Given the description of an element on the screen output the (x, y) to click on. 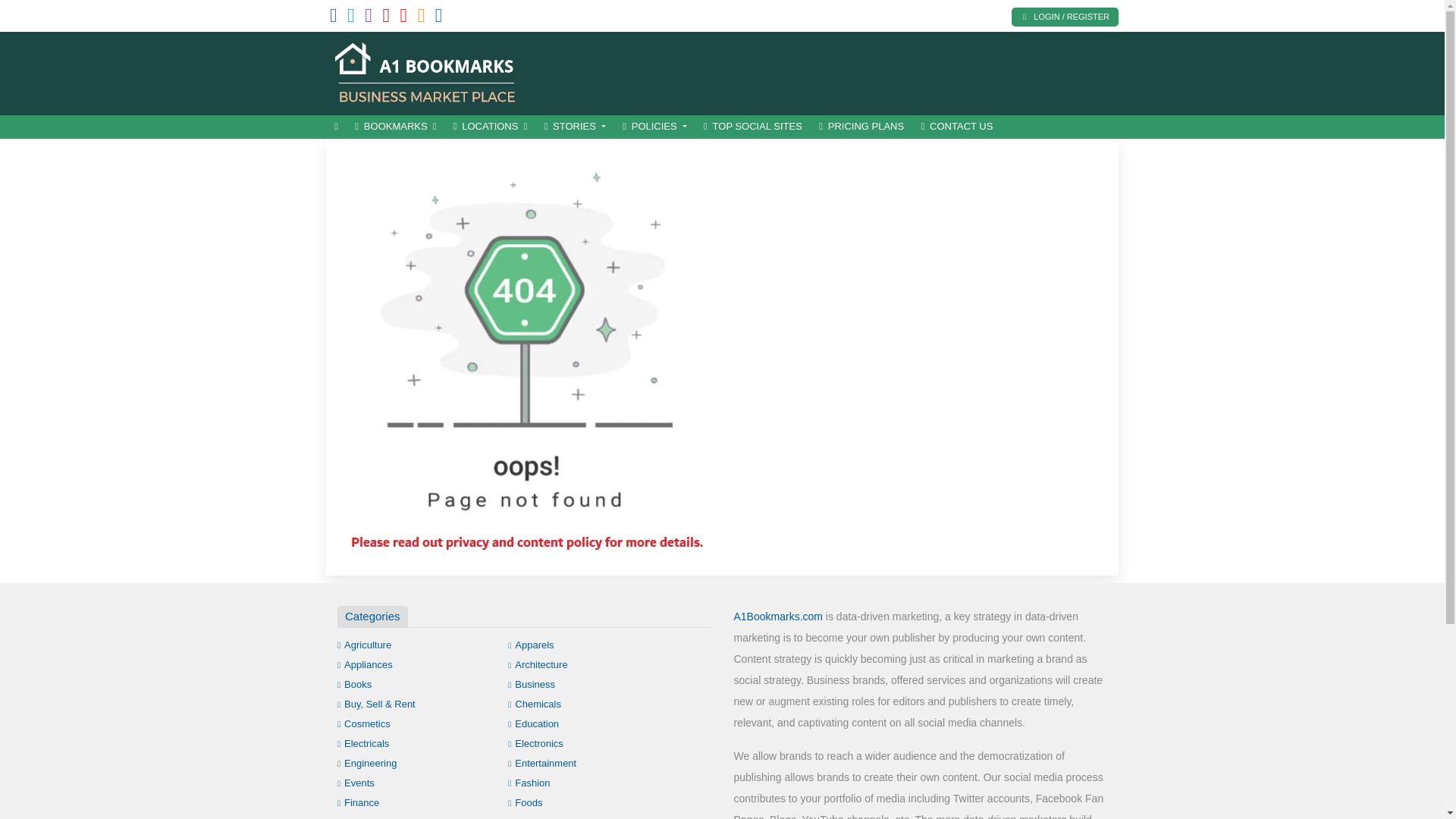
BOOKMARKS (395, 126)
Effective Social Tool to Market Your Product and Services (428, 71)
LOCATIONS (490, 126)
